Given the description of an element on the screen output the (x, y) to click on. 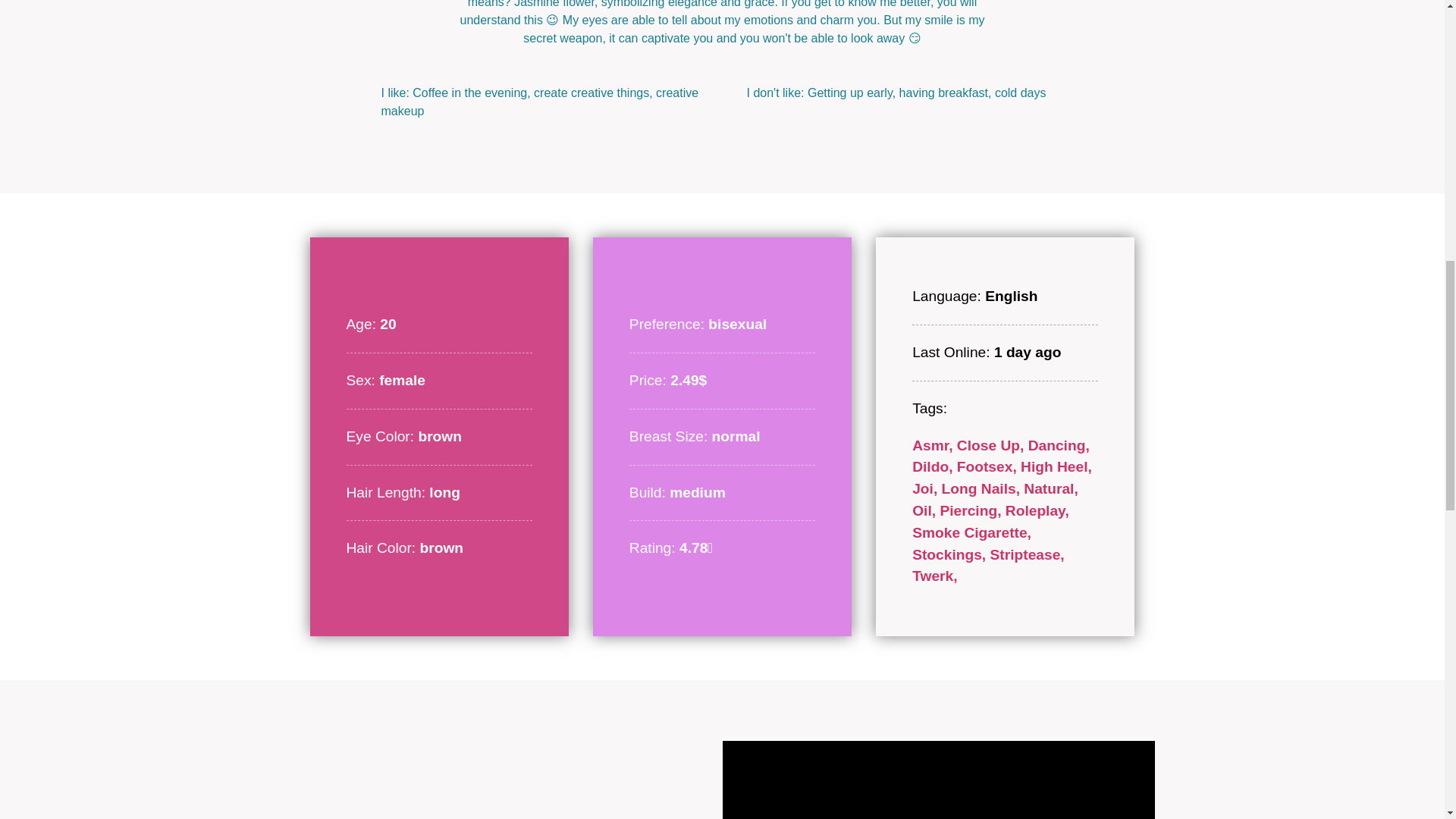
Close Up (991, 445)
Dancing (1058, 445)
Asmr (934, 445)
